Given the description of an element on the screen output the (x, y) to click on. 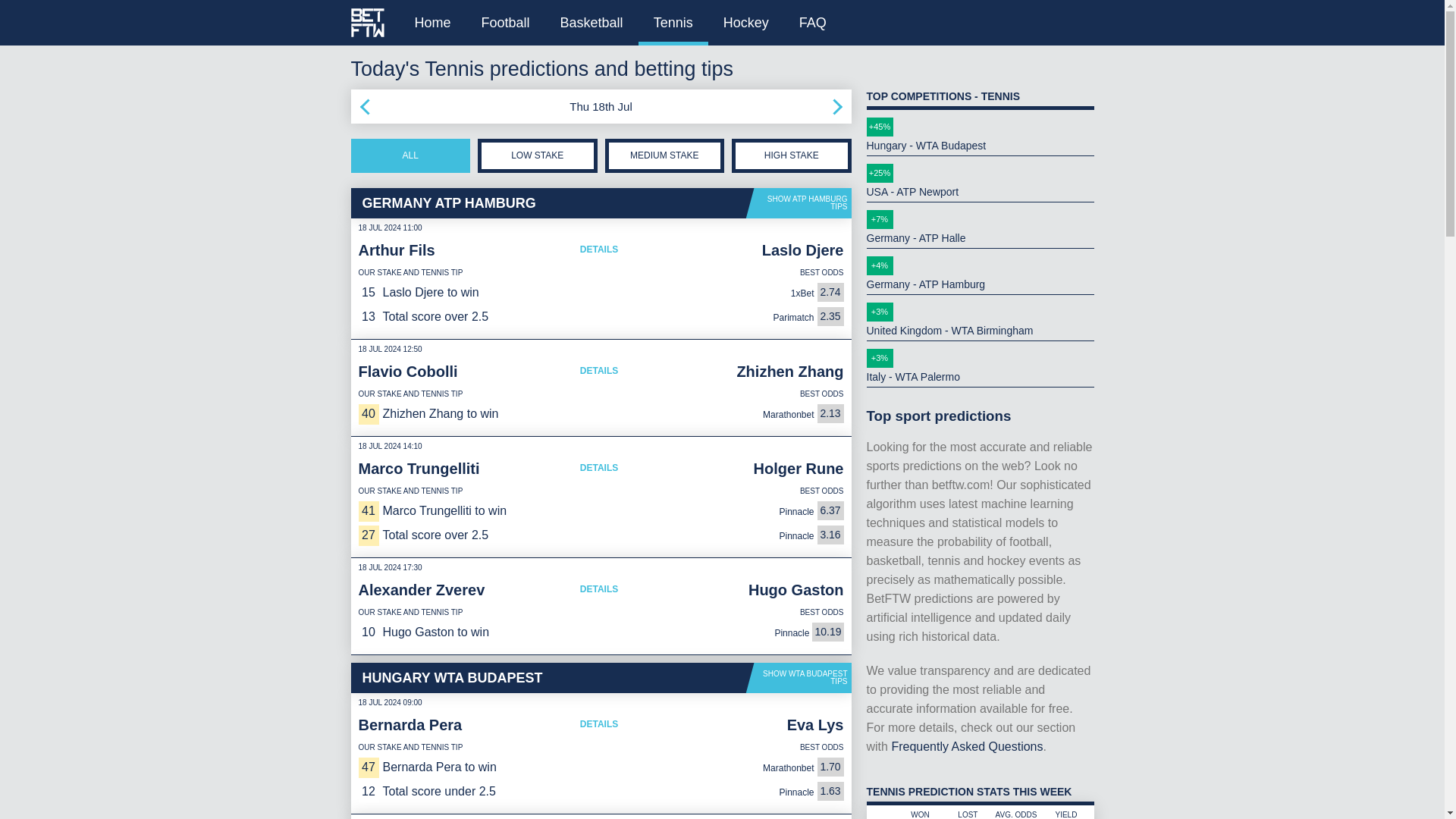
DETAILS (599, 467)
Hockey (745, 22)
LOW STAKE (536, 155)
ALL (410, 155)
MEDIUM STAKE (665, 155)
DETAILS (599, 589)
Tennis (673, 22)
DETAILS (599, 370)
Football (504, 22)
Basketball (591, 22)
DETAILS (599, 724)
Home (431, 22)
FAQ (812, 22)
SHOW WTA BUDAPEST TIPS (799, 677)
HIGH STAKE (791, 155)
